Given the description of an element on the screen output the (x, y) to click on. 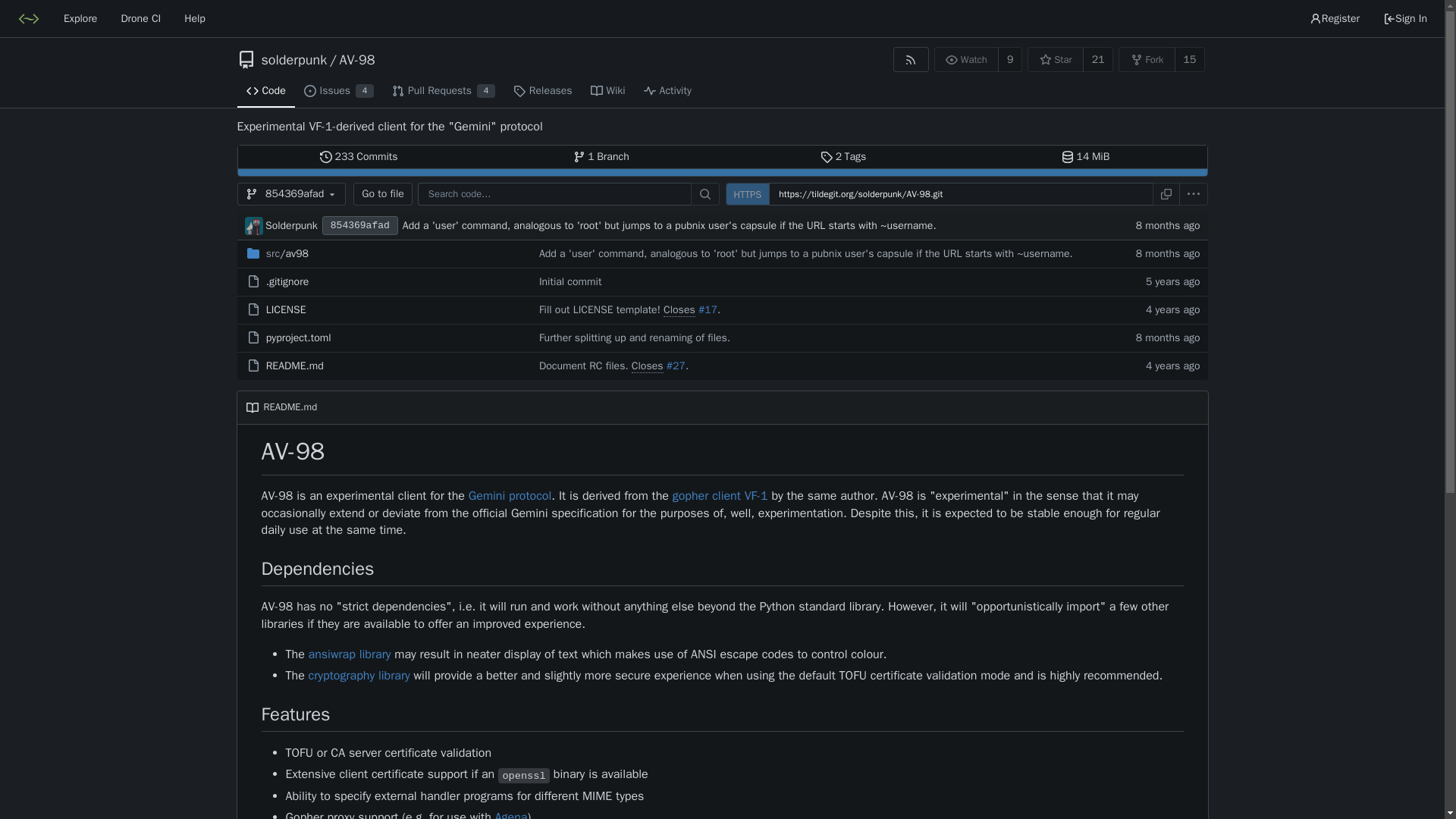
Code (264, 91)
pyproject.toml (298, 337)
Go to file (382, 193)
Activity (667, 91)
Watch (966, 59)
15 (1189, 59)
Explore (842, 156)
Solderpunk (79, 17)
LICENSE (253, 226)
AV-98 (285, 309)
.gitignore (356, 59)
Star (287, 281)
